Given the description of an element on the screen output the (x, y) to click on. 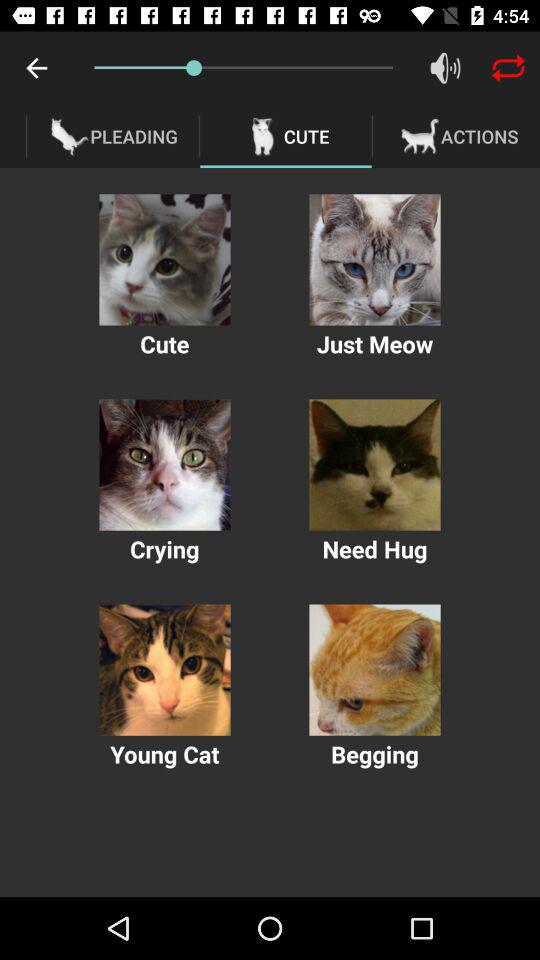
select action (374, 464)
